Given the description of an element on the screen output the (x, y) to click on. 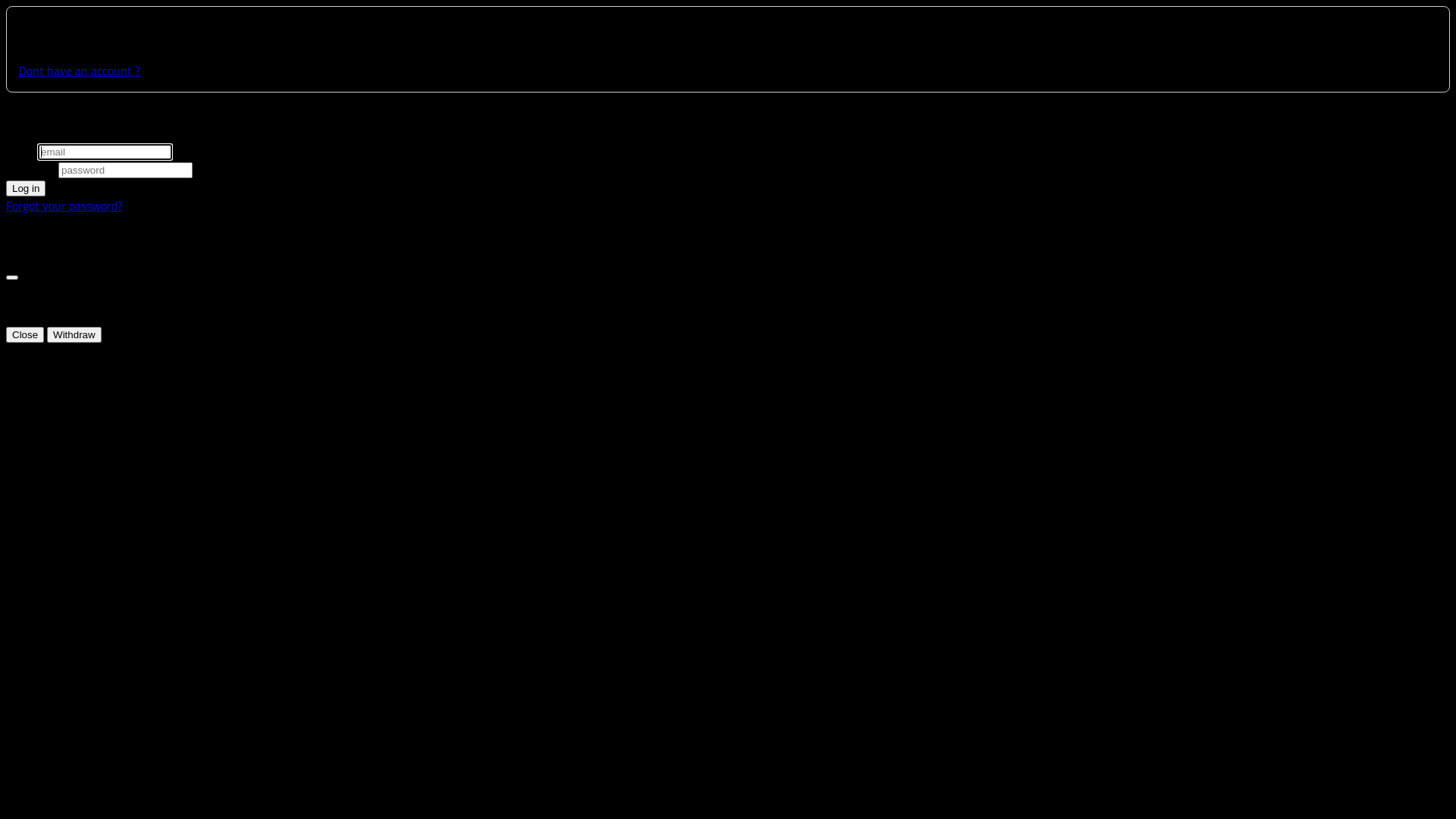
Dont have an account ? Element type: text (79, 70)
Log in Element type: text (25, 188)
Close Element type: text (24, 334)
Withdraw Element type: text (74, 334)
Forgot your password? Element type: text (64, 205)
